Given the description of an element on the screen output the (x, y) to click on. 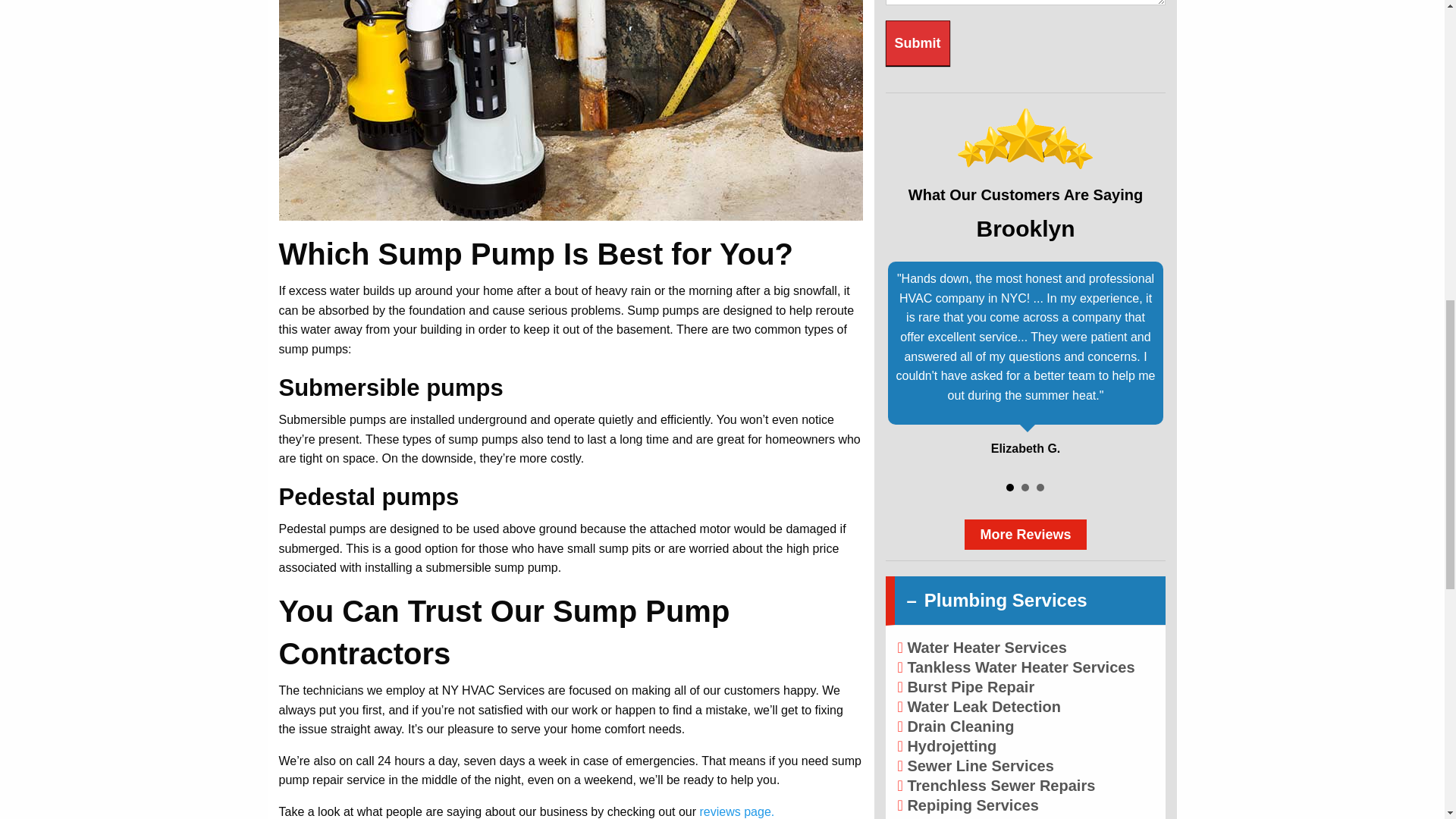
Submit (917, 43)
2 (1025, 487)
1 (1009, 487)
3 (1039, 487)
Submit (917, 43)
More Reviews (1024, 534)
reviews page. (737, 811)
